Given the description of an element on the screen output the (x, y) to click on. 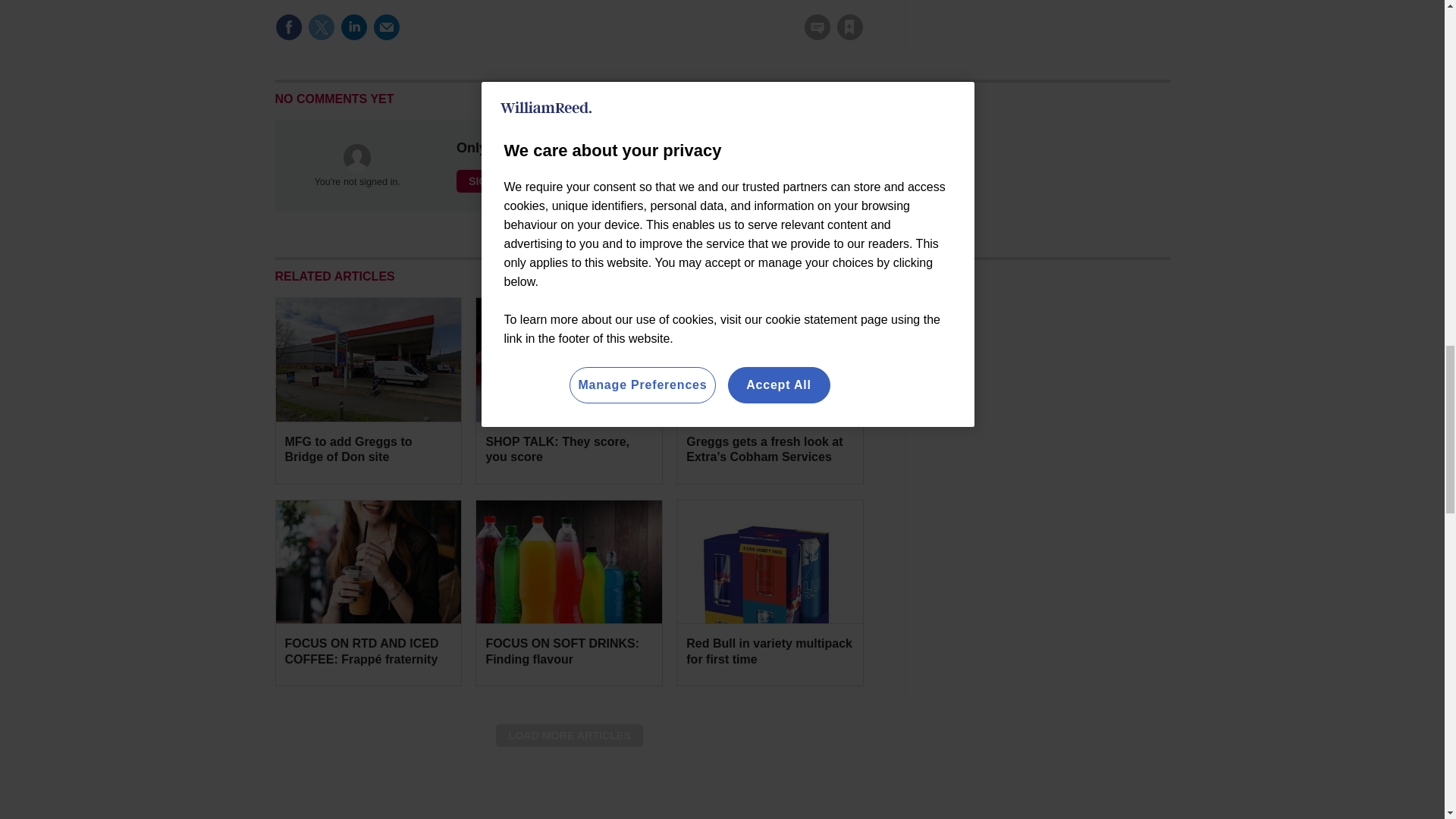
Share this on Linked in (352, 26)
Email this article (386, 26)
3rd party ad content (1055, 391)
Share this on Twitter (320, 26)
Share this on Facebook (288, 26)
No comments (812, 36)
